Given the description of an element on the screen output the (x, y) to click on. 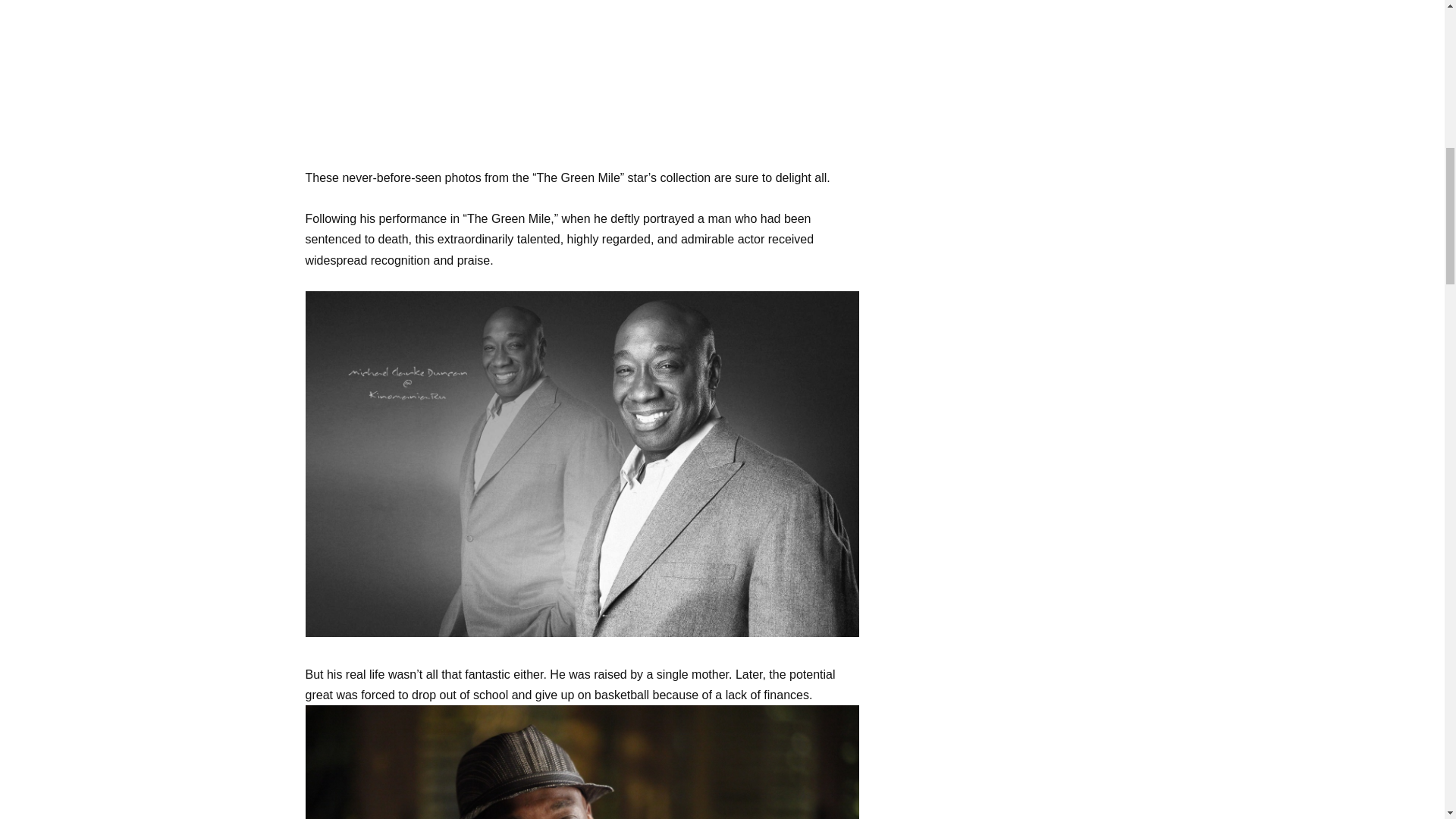
Advertisement (581, 79)
